Given the description of an element on the screen output the (x, y) to click on. 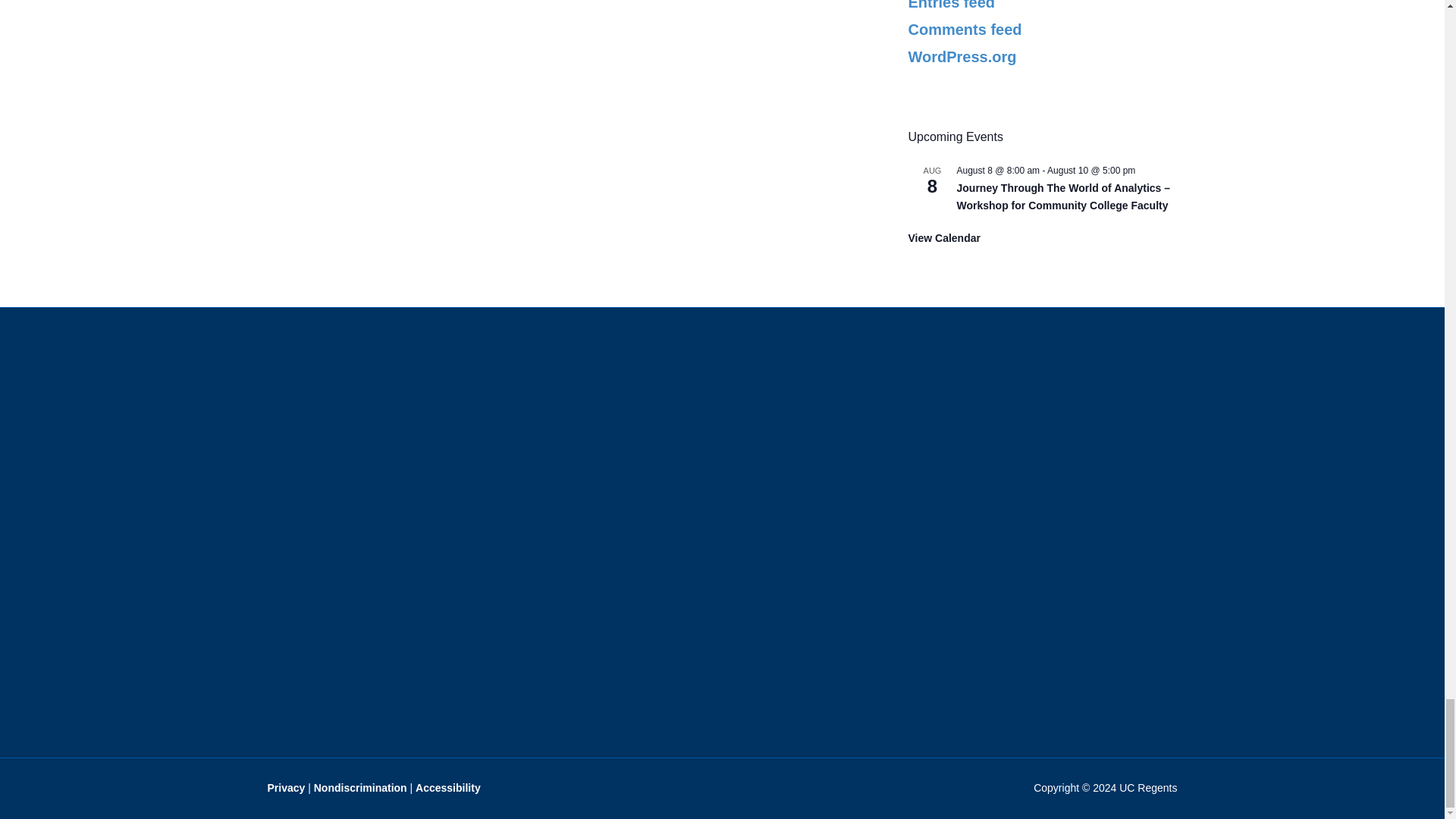
View more events. (943, 237)
